Given the description of an element on the screen output the (x, y) to click on. 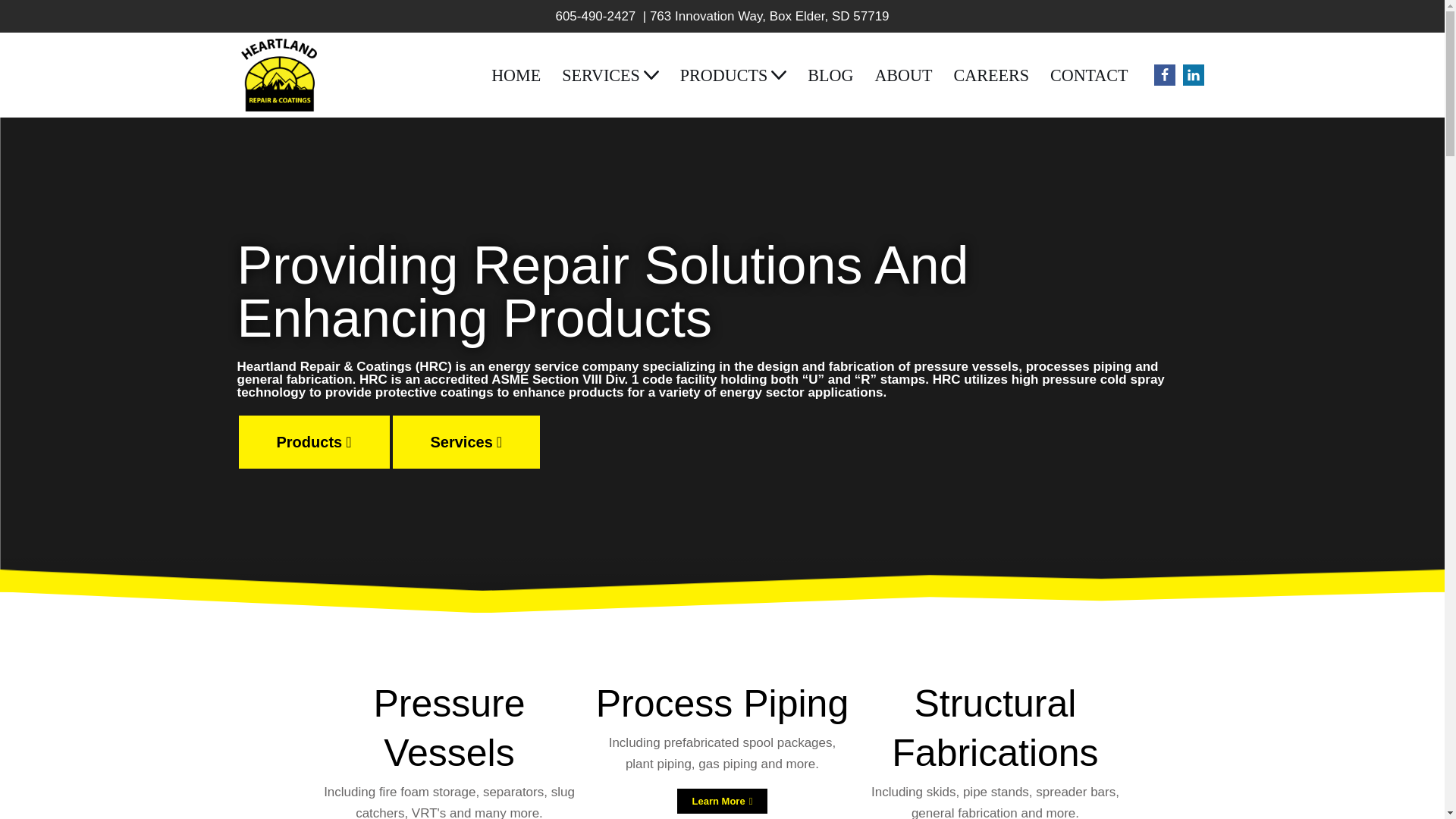
LinkedIn (1193, 74)
CONTACT (1088, 74)
BLOG (830, 74)
SERVICES (601, 74)
PRODUCTS (723, 74)
CAREERS (990, 74)
Skip to content (11, 31)
ABOUT (903, 74)
Facebook (1164, 74)
605-490-2427 (594, 16)
HOME (516, 74)
